Given the description of an element on the screen output the (x, y) to click on. 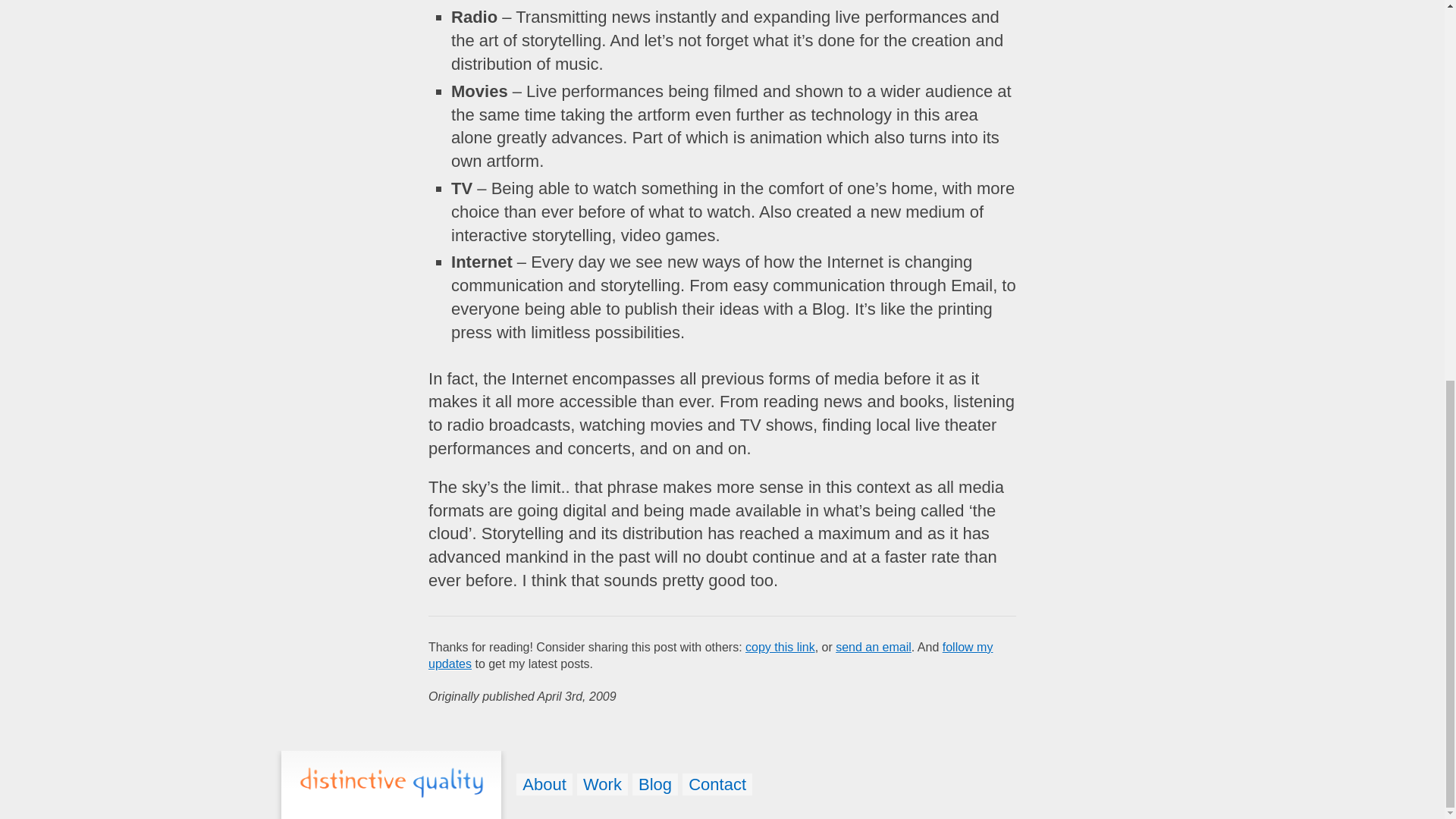
send an email (873, 646)
follow my updates (710, 655)
Work (601, 784)
Blog (654, 784)
About (544, 784)
copy this link (780, 646)
Contact (717, 784)
